Given the description of an element on the screen output the (x, y) to click on. 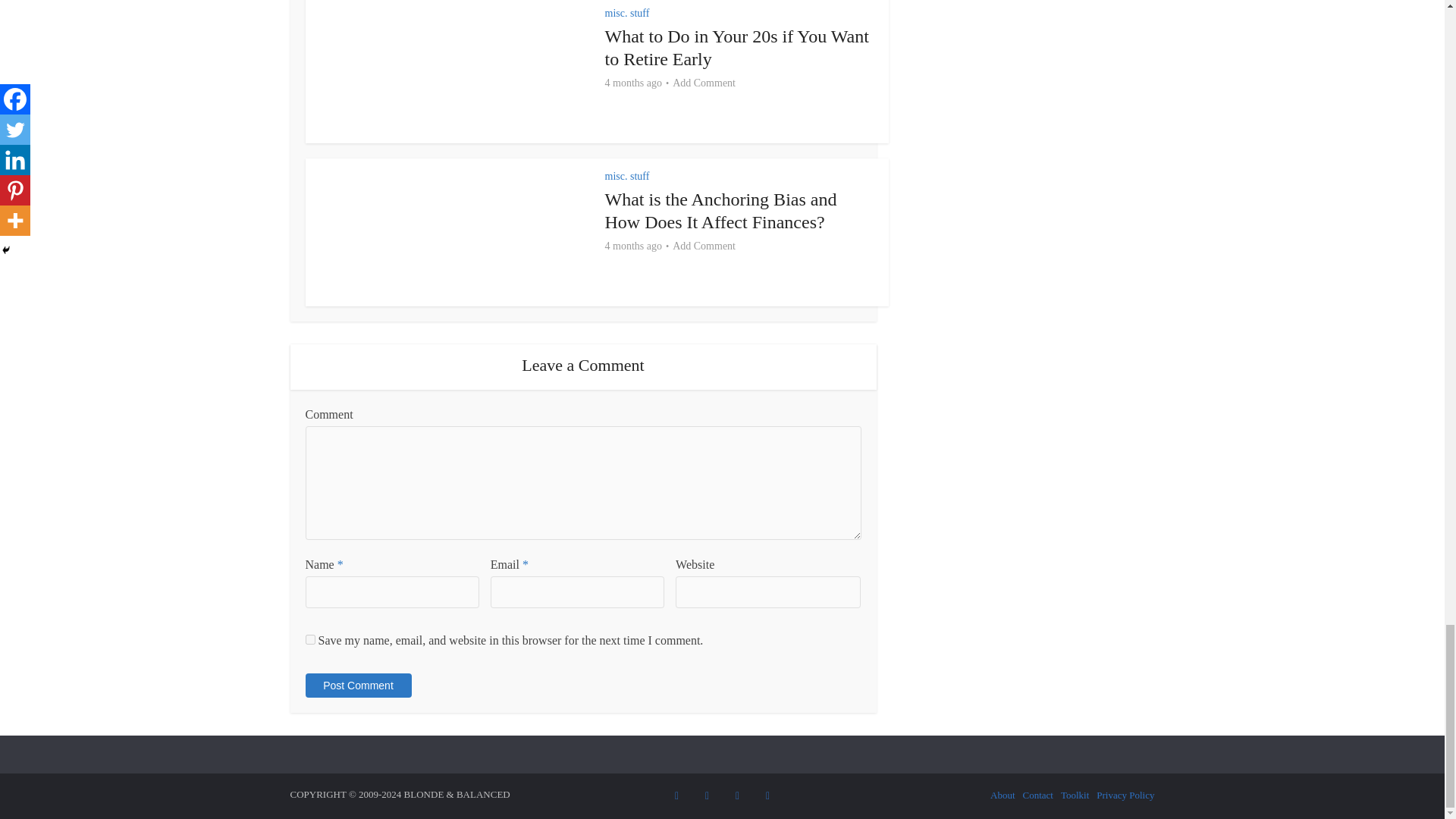
yes (309, 639)
Post Comment (357, 685)
